Given the description of an element on the screen output the (x, y) to click on. 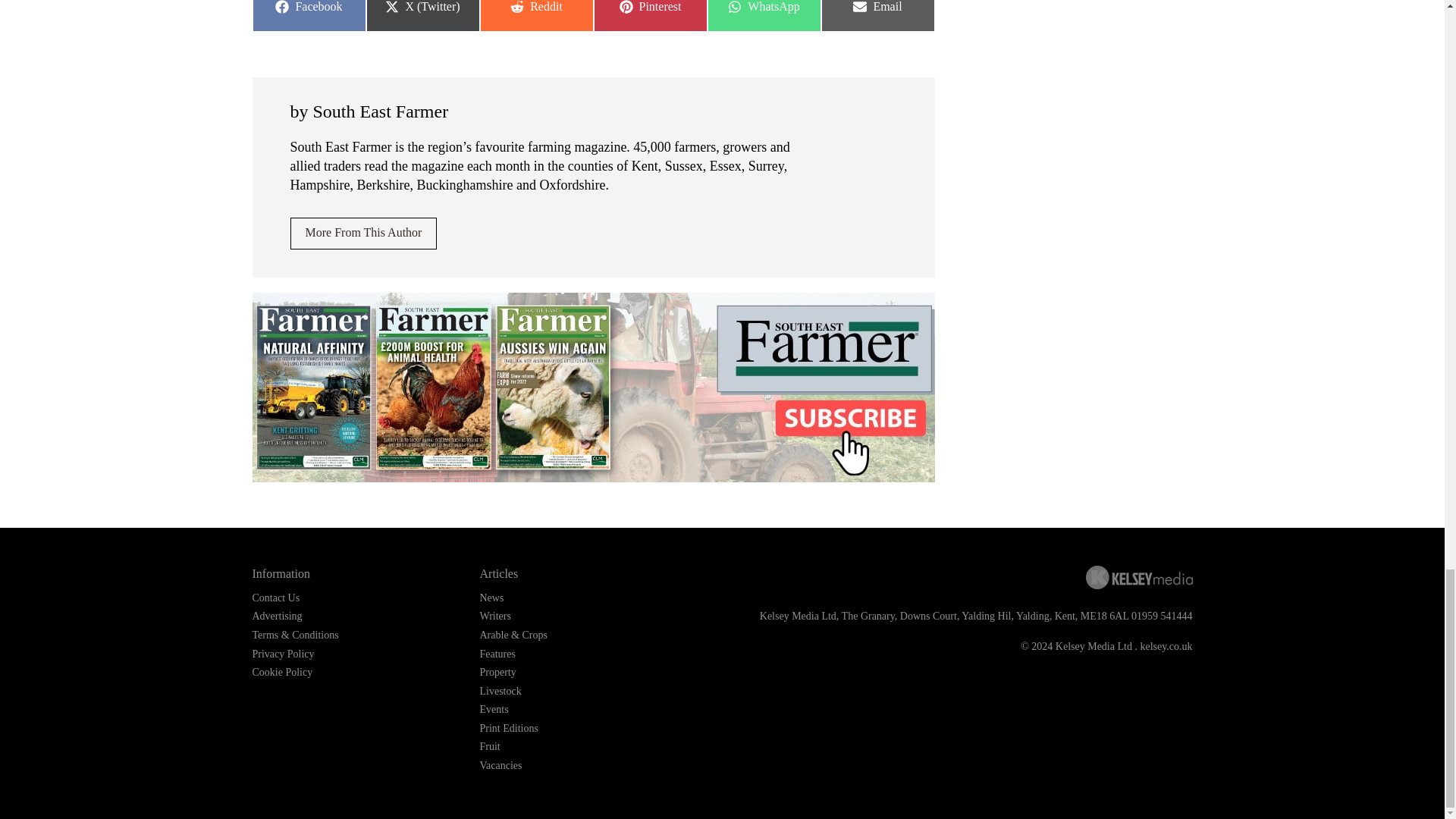
More From This Author (877, 15)
Advertising (362, 233)
Contact Us (308, 15)
